Given the description of an element on the screen output the (x, y) to click on. 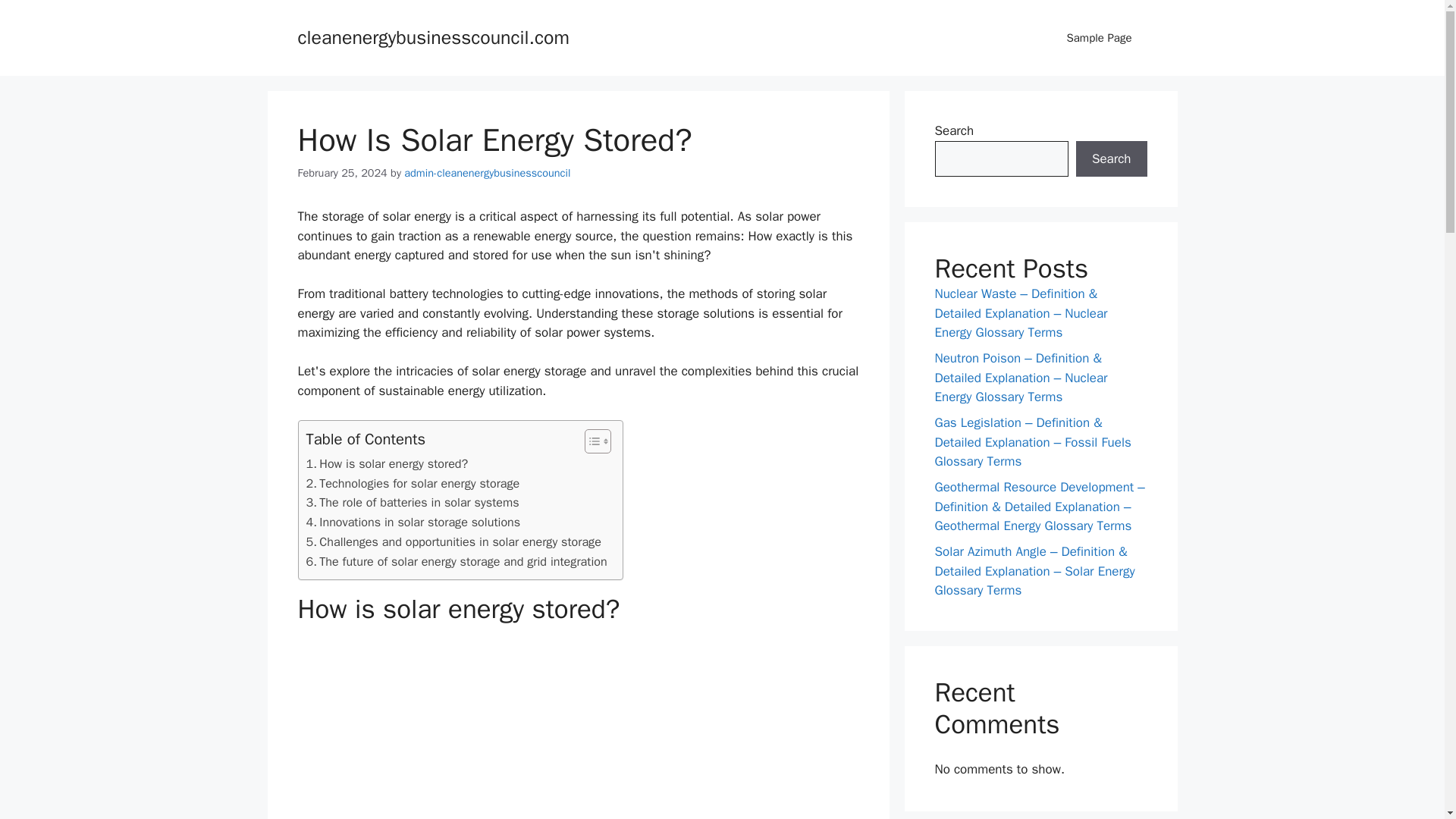
Innovations in solar storage solutions (413, 522)
YouTube video player (578, 729)
Challenges and opportunities in solar energy storage (453, 542)
The role of batteries in solar systems (412, 502)
Challenges and opportunities in solar energy storage (453, 542)
Sample Page (1099, 37)
How is solar energy stored? (386, 464)
Search (1111, 158)
Technologies for solar energy storage (412, 483)
cleanenergybusinesscouncil.com (433, 37)
